Given the description of an element on the screen output the (x, y) to click on. 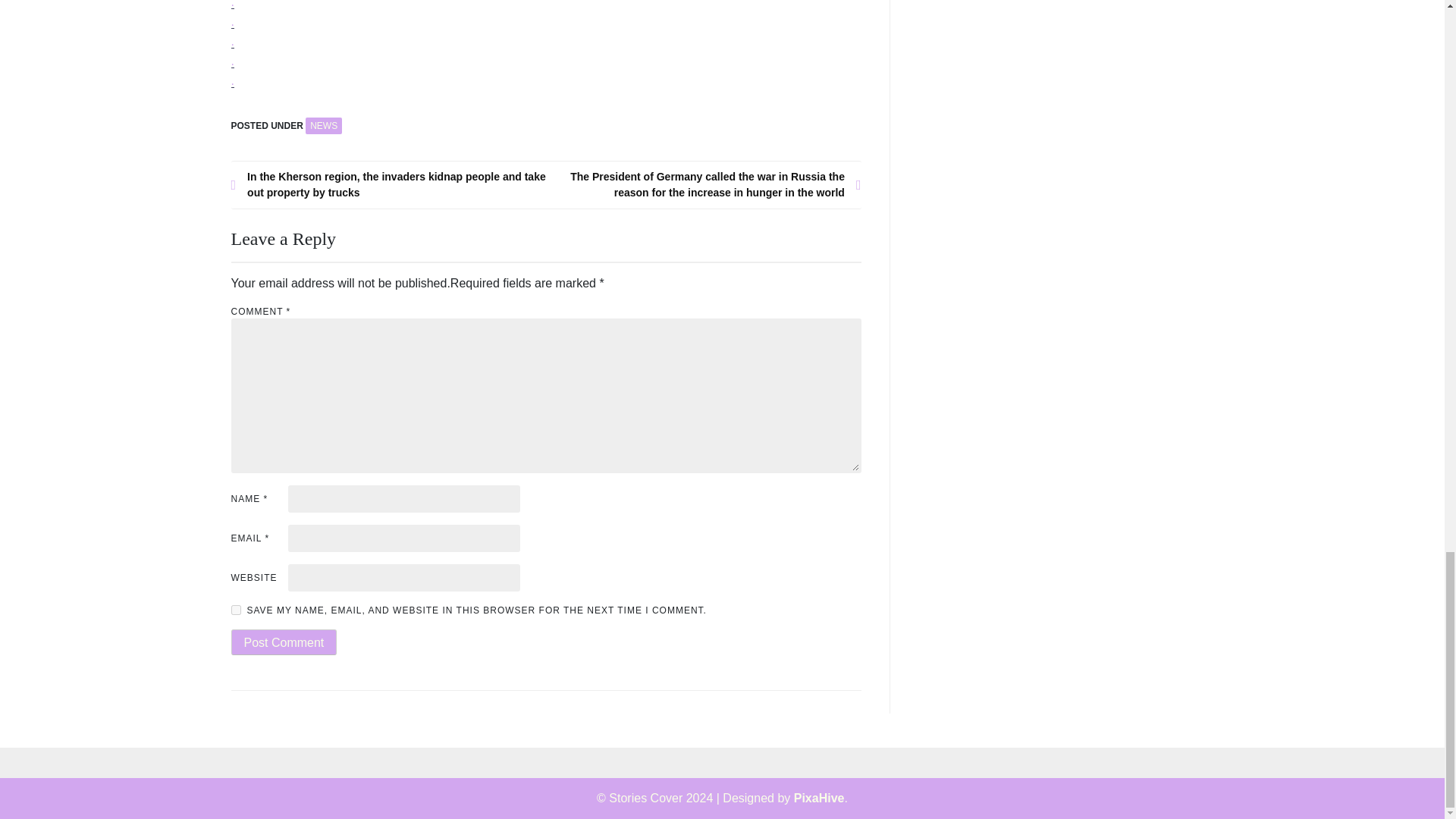
Post Comment (283, 642)
yes (235, 610)
